Given the description of an element on the screen output the (x, y) to click on. 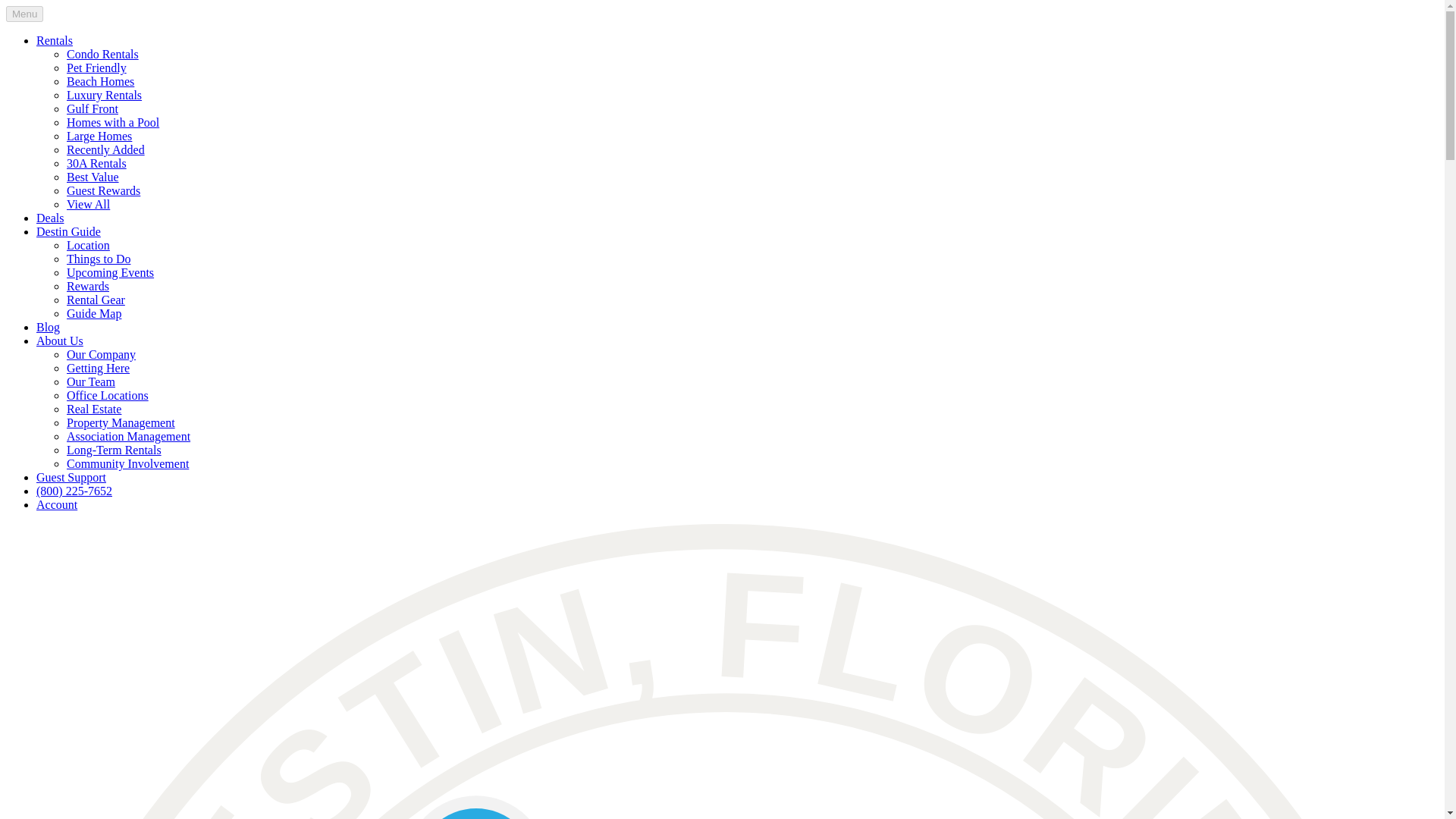
Real Estate (93, 408)
Rental Gear (95, 299)
Office Locations (107, 395)
Recently Added (105, 149)
Property Management (120, 422)
Gulf Front (91, 108)
Rewards (87, 286)
Getting Here (97, 367)
Destin Guide (68, 231)
Guide Map (93, 313)
